Given the description of an element on the screen output the (x, y) to click on. 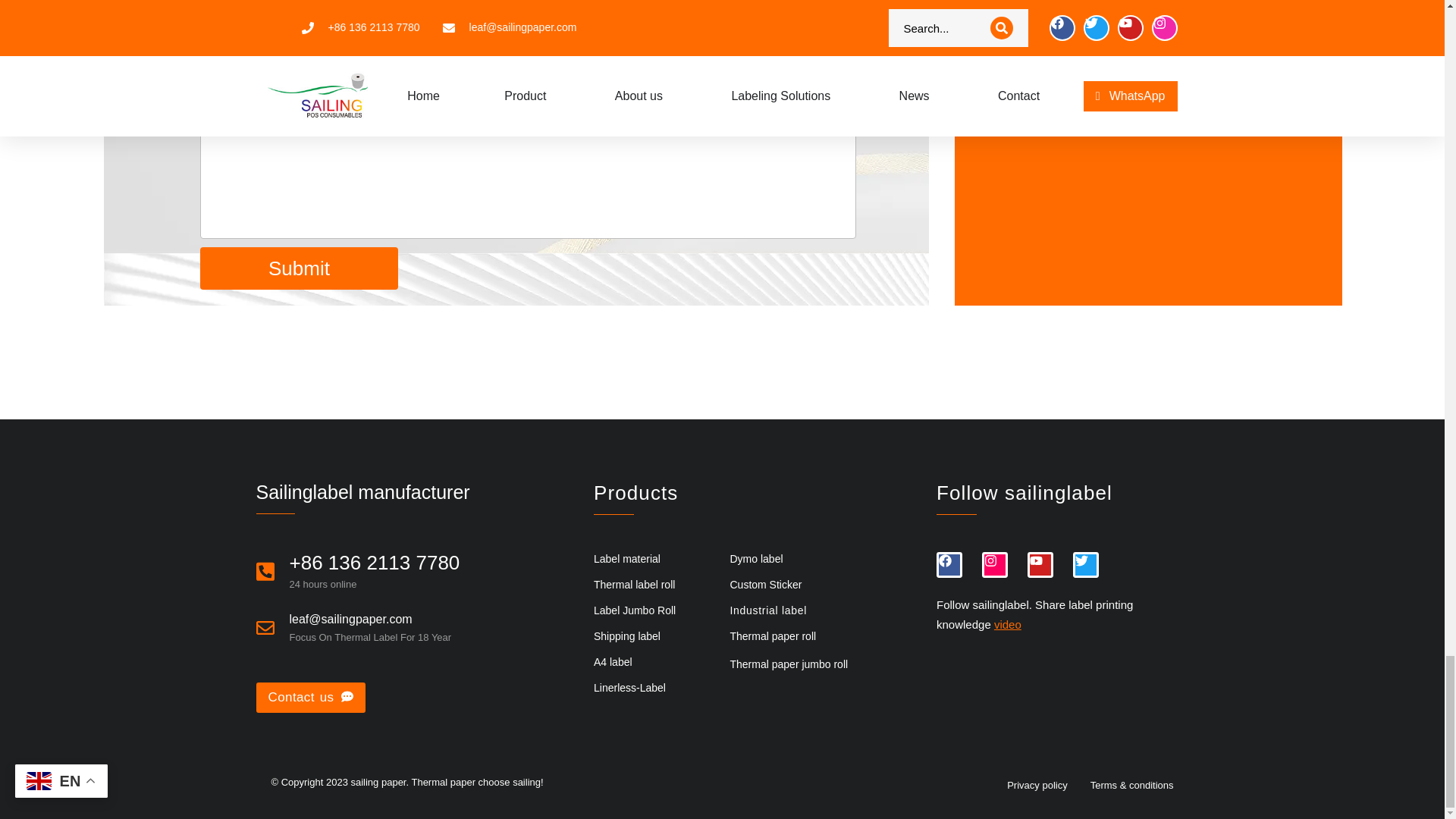
Submit (298, 268)
Thermal labels (1147, 35)
